Given the description of an element on the screen output the (x, y) to click on. 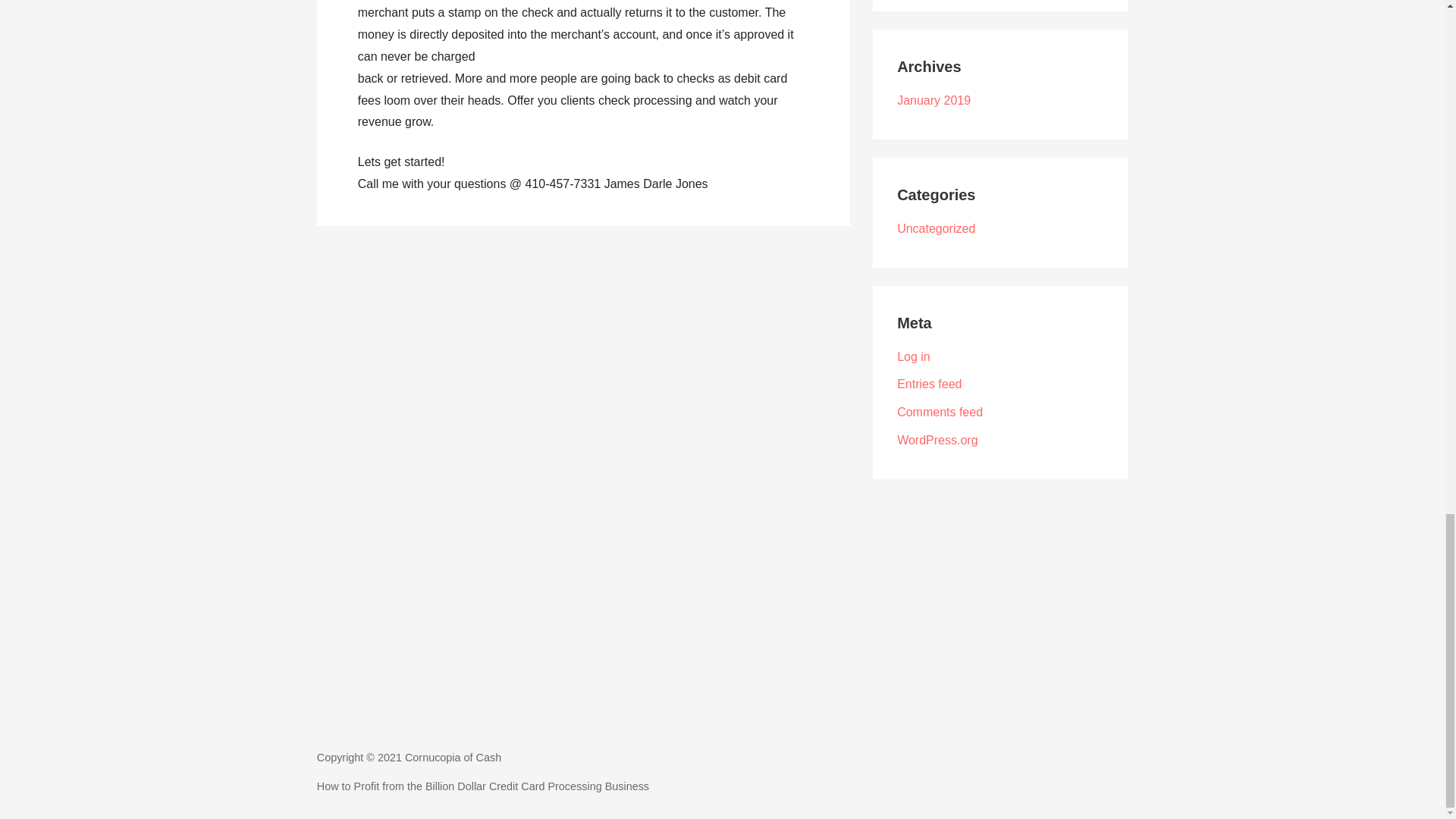
January 2019 (933, 100)
Comments feed (939, 411)
Log in (913, 356)
Entries feed (928, 383)
Uncategorized (935, 228)
